Given the description of an element on the screen output the (x, y) to click on. 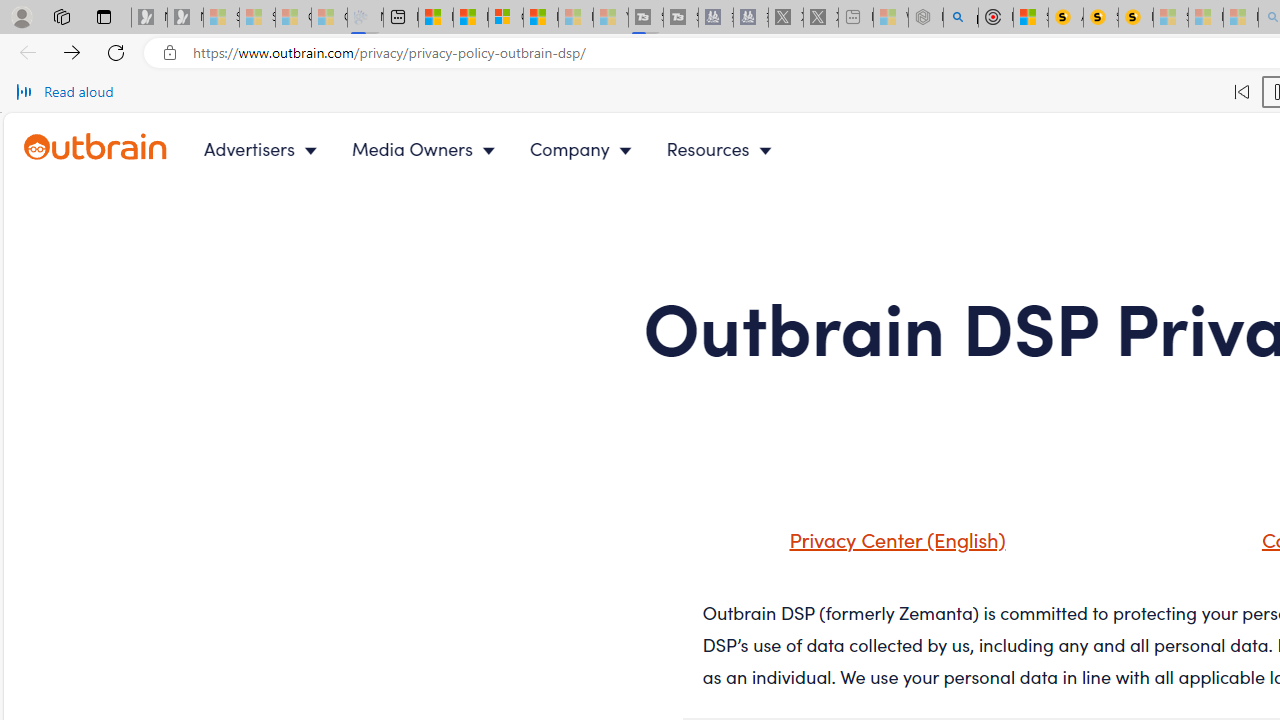
Company (585, 148)
Main Navigation (504, 148)
X - Sleeping (820, 17)
Nordace - Summer Adventures 2024 - Sleeping (925, 17)
Resources (723, 148)
Wildlife - MSN - Sleeping (890, 17)
